Given the description of an element on the screen output the (x, y) to click on. 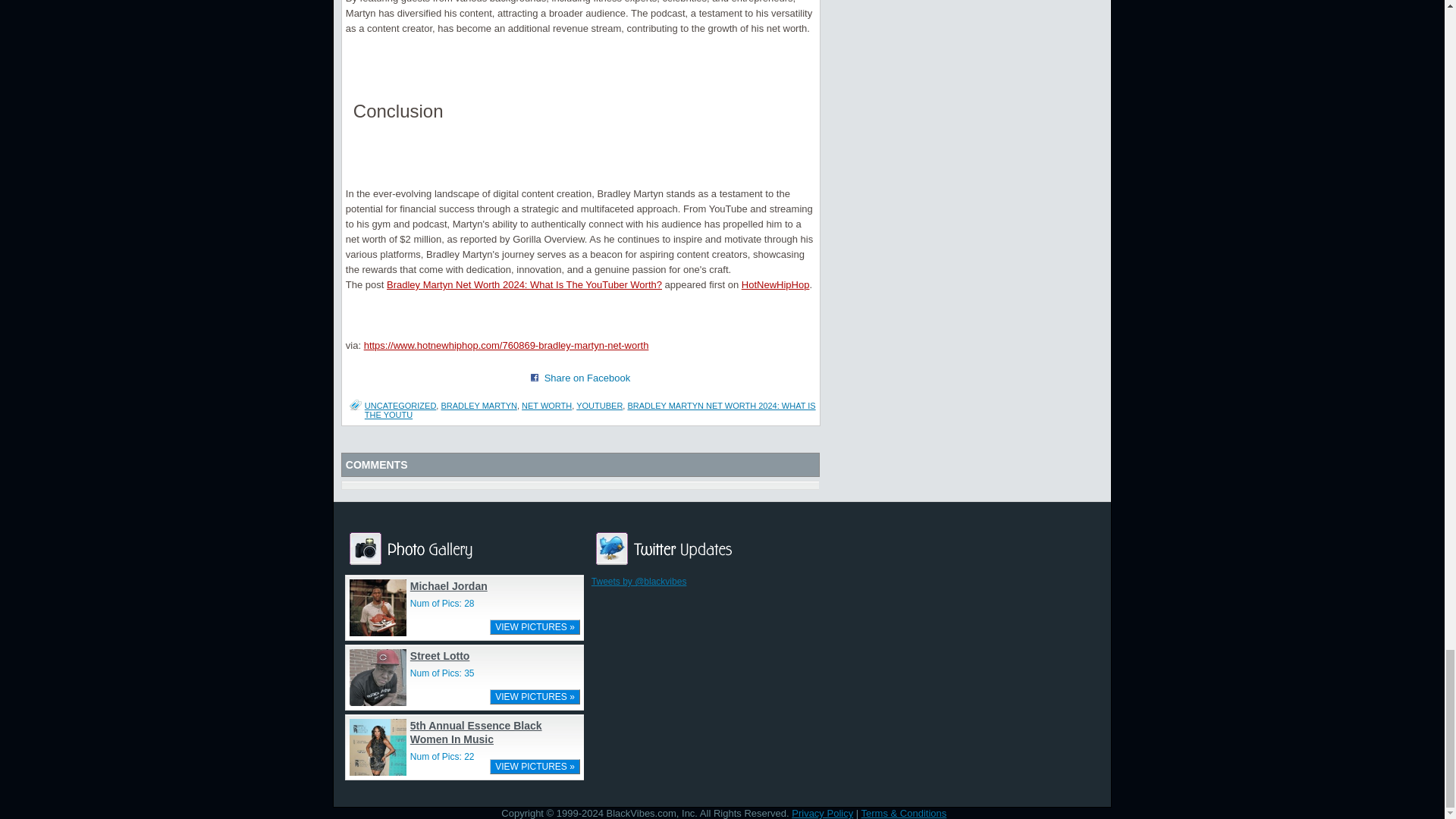
YOUTUBER (599, 405)
Bradley Martyn Net Worth 2024: What Is The YouTuber Worth? (524, 284)
bradley martyn (478, 405)
UNCATEGORIZED (400, 405)
BRADLEY MARTYN (478, 405)
net worth (546, 405)
Uncategorized (400, 405)
NET WORTH (546, 405)
Share on Facebook (534, 377)
BRADLEY MARTYN NET WORTH 2024: WHAT IS THE YOUTU (590, 410)
HotNewHipHop (775, 284)
youtuber (599, 405)
Share on Facebook (587, 378)
